Given the description of an element on the screen output the (x, y) to click on. 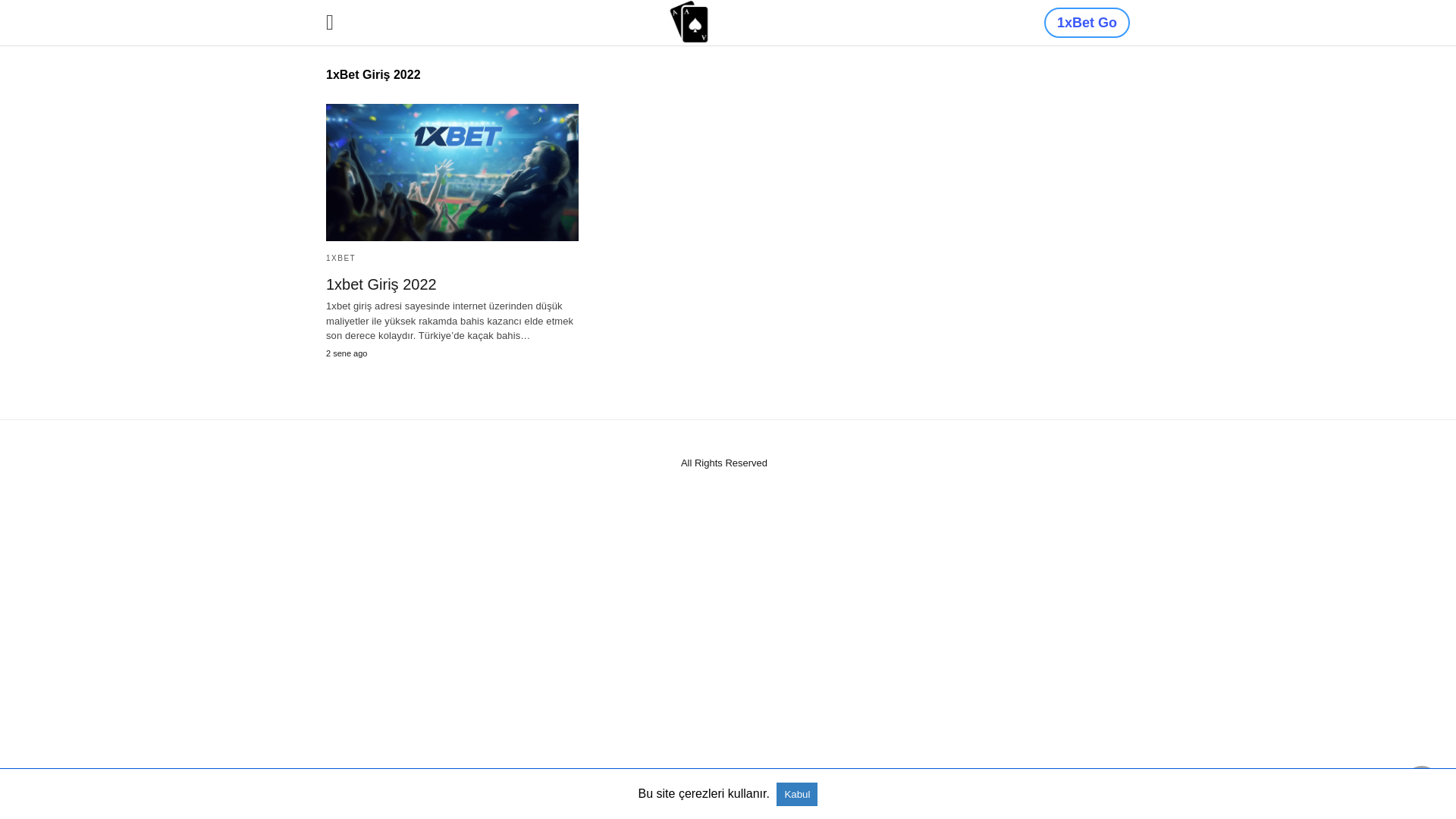
1xBet Element type: hover (688, 21)
1XBET Element type: text (340, 258)
Kabul Element type: text (796, 794)
1xBet Go Element type: text (1086, 22)
back to top Element type: hover (1421, 784)
